Given the description of an element on the screen output the (x, y) to click on. 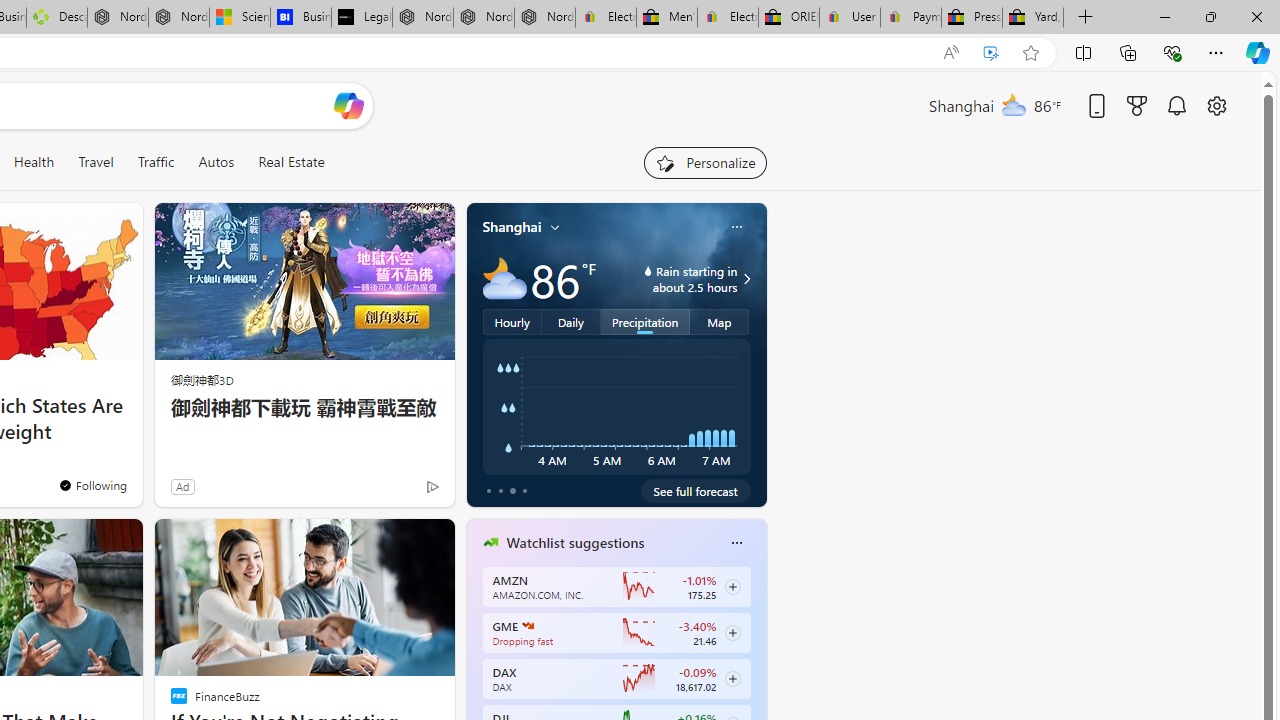
next (756, 670)
Class: follow-button  m (732, 678)
Watchlist suggestions (575, 543)
tab-0 (488, 490)
